Given the description of an element on the screen output the (x, y) to click on. 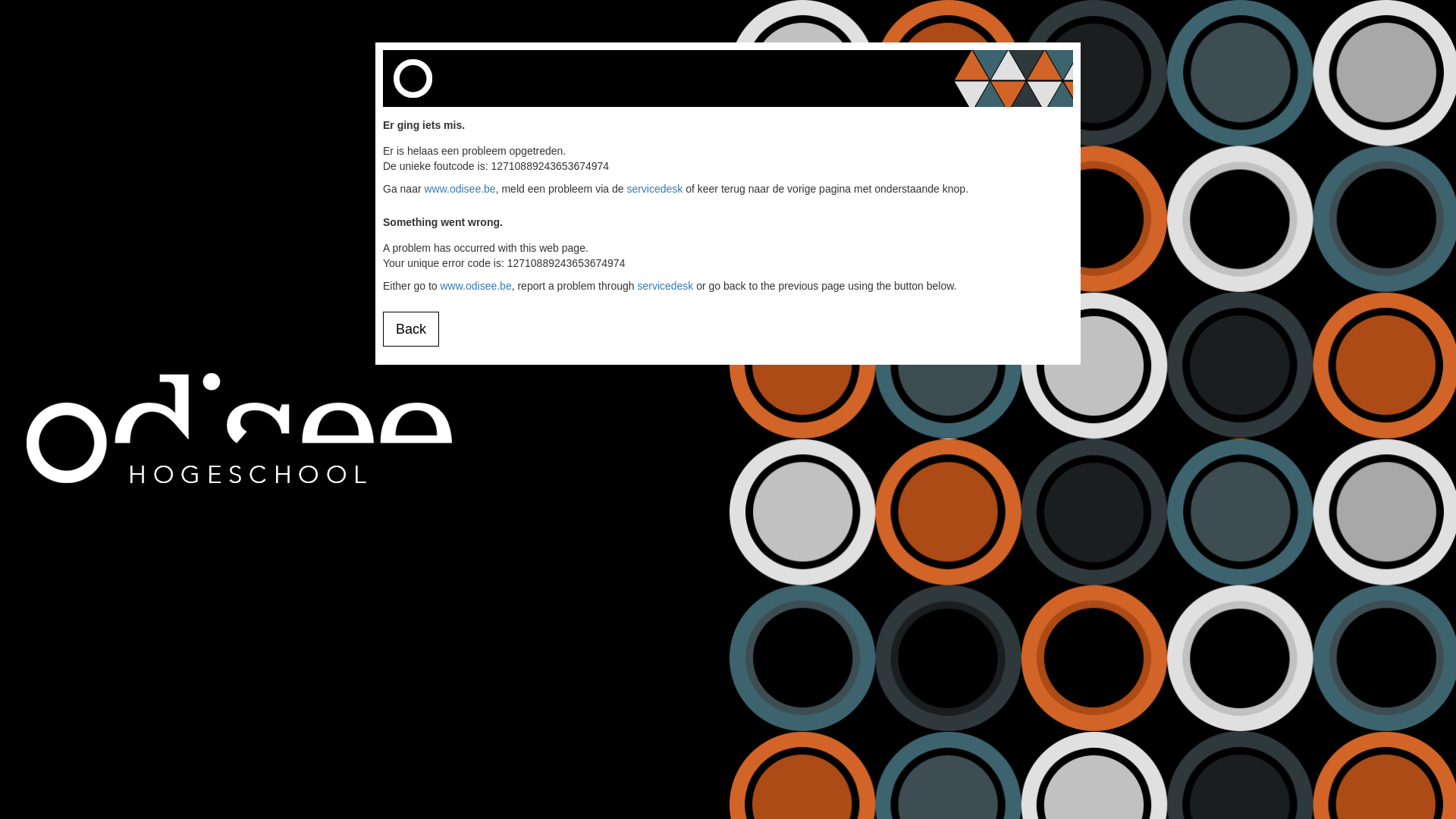
www.odisee.be Element type: text (475, 285)
Back Element type: text (410, 328)
servicedesk Element type: text (654, 188)
www.odisee.be Element type: text (459, 188)
servicedesk Element type: text (665, 285)
